Given the description of an element on the screen output the (x, y) to click on. 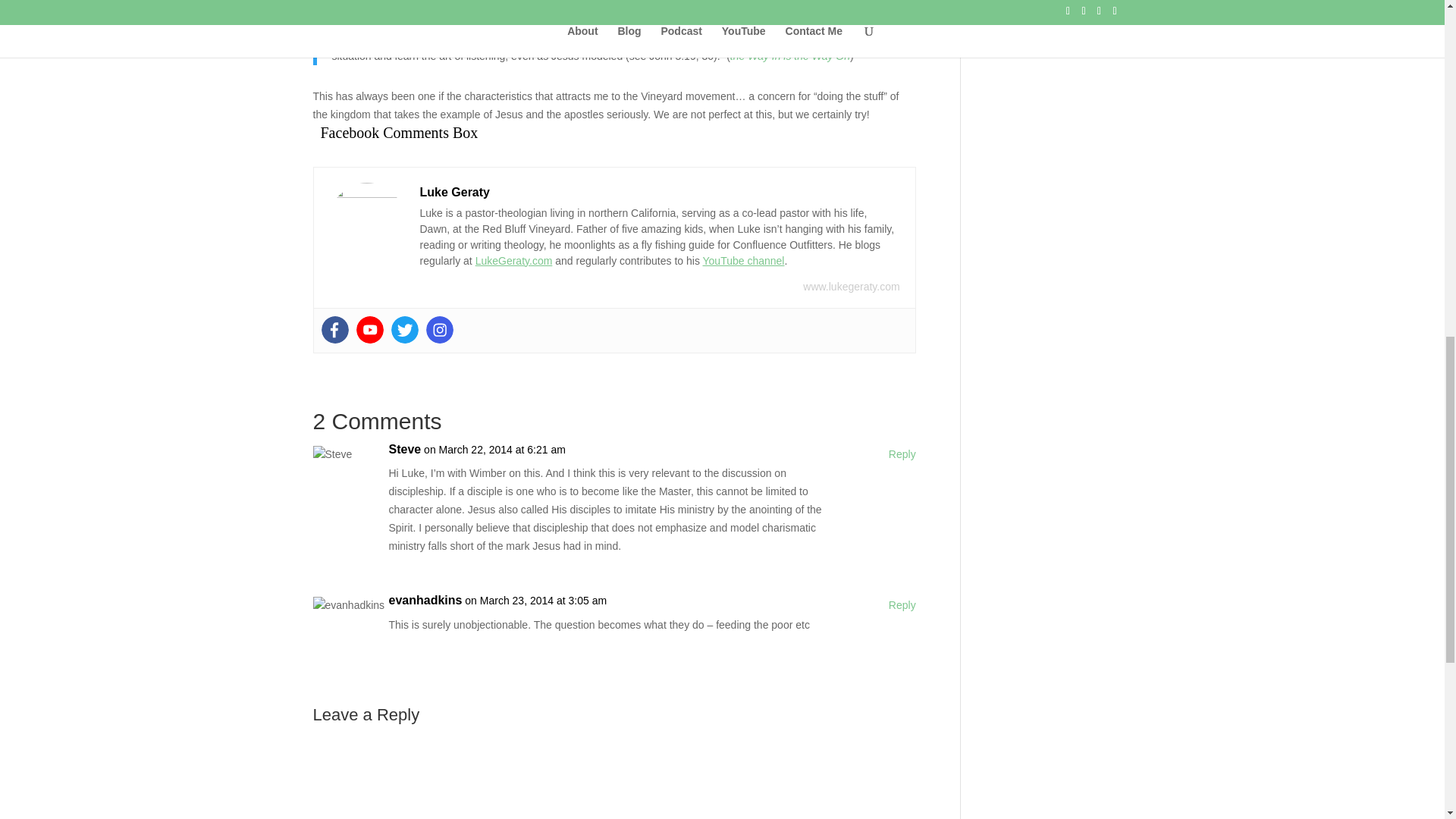
Luke Geraty (454, 191)
Reply (901, 606)
LukeGeraty.com (514, 260)
the Way In is the Way On (790, 55)
Comment Form (614, 775)
Facebook (335, 329)
Youtube (370, 329)
Twitter (405, 329)
YouTube channel (743, 260)
Reply (901, 454)
